Given the description of an element on the screen output the (x, y) to click on. 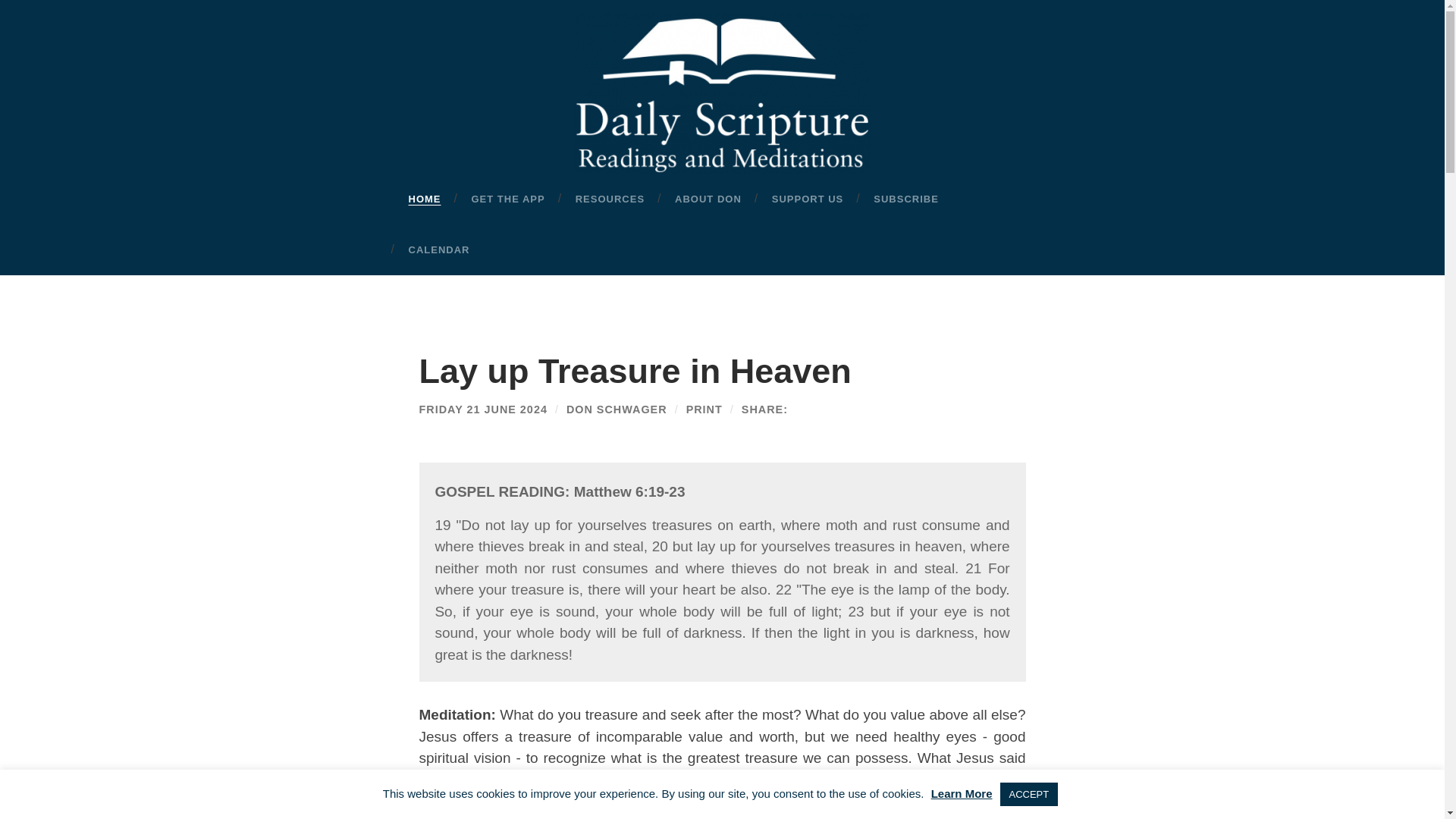
Print this reading (703, 409)
FRIDAY 21 JUNE 2024 (483, 409)
HOME (424, 198)
RESOURCES (609, 198)
PRINT (703, 409)
ABOUT DON (708, 198)
SUPPORT US (808, 198)
GET THE APP (508, 198)
SUBSCRIBE (906, 198)
Daily Scripture Readings and Meditations (721, 92)
